Given the description of an element on the screen output the (x, y) to click on. 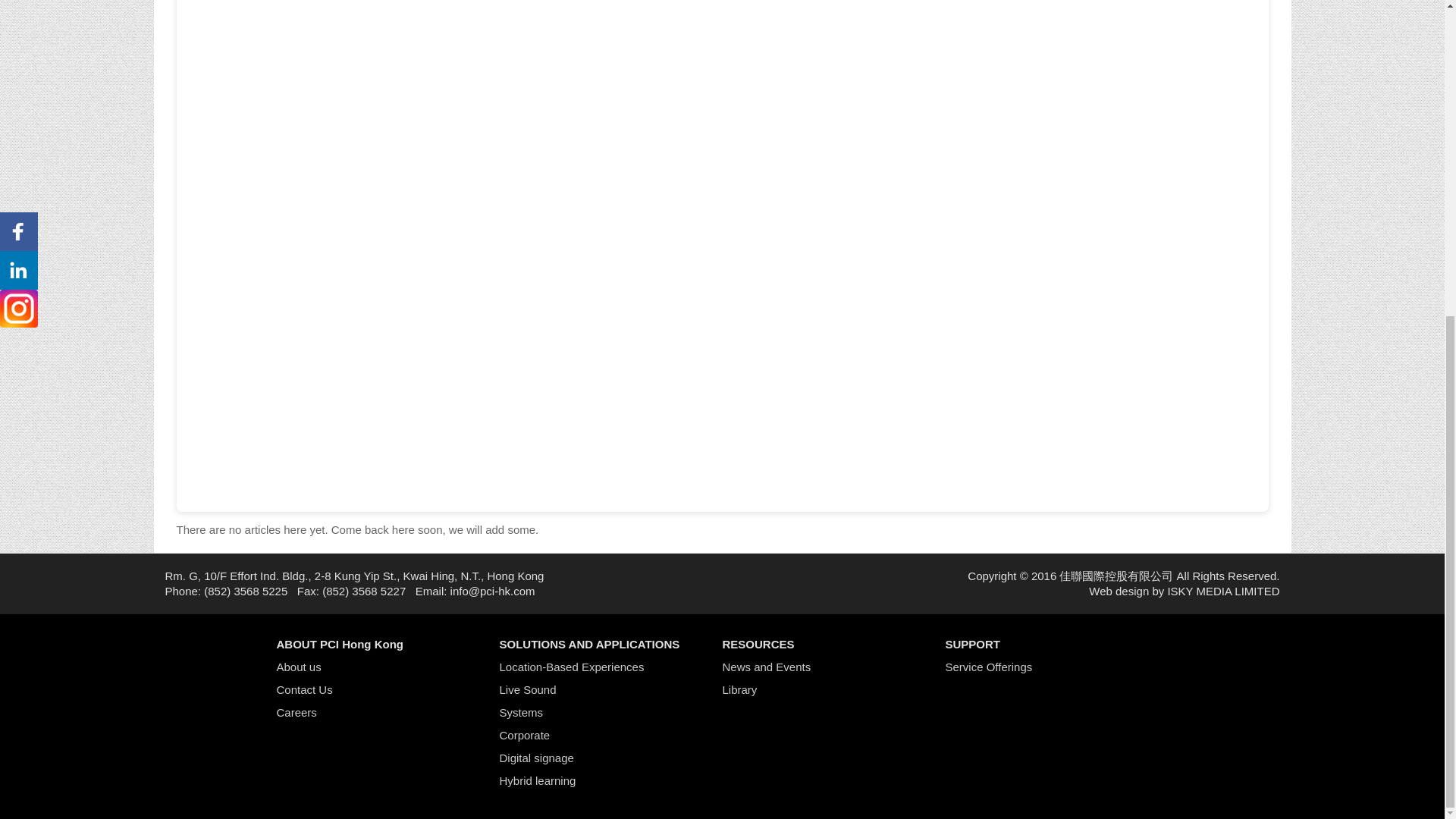
Contact Us (303, 689)
Careers (295, 712)
About us (298, 666)
